Given the description of an element on the screen output the (x, y) to click on. 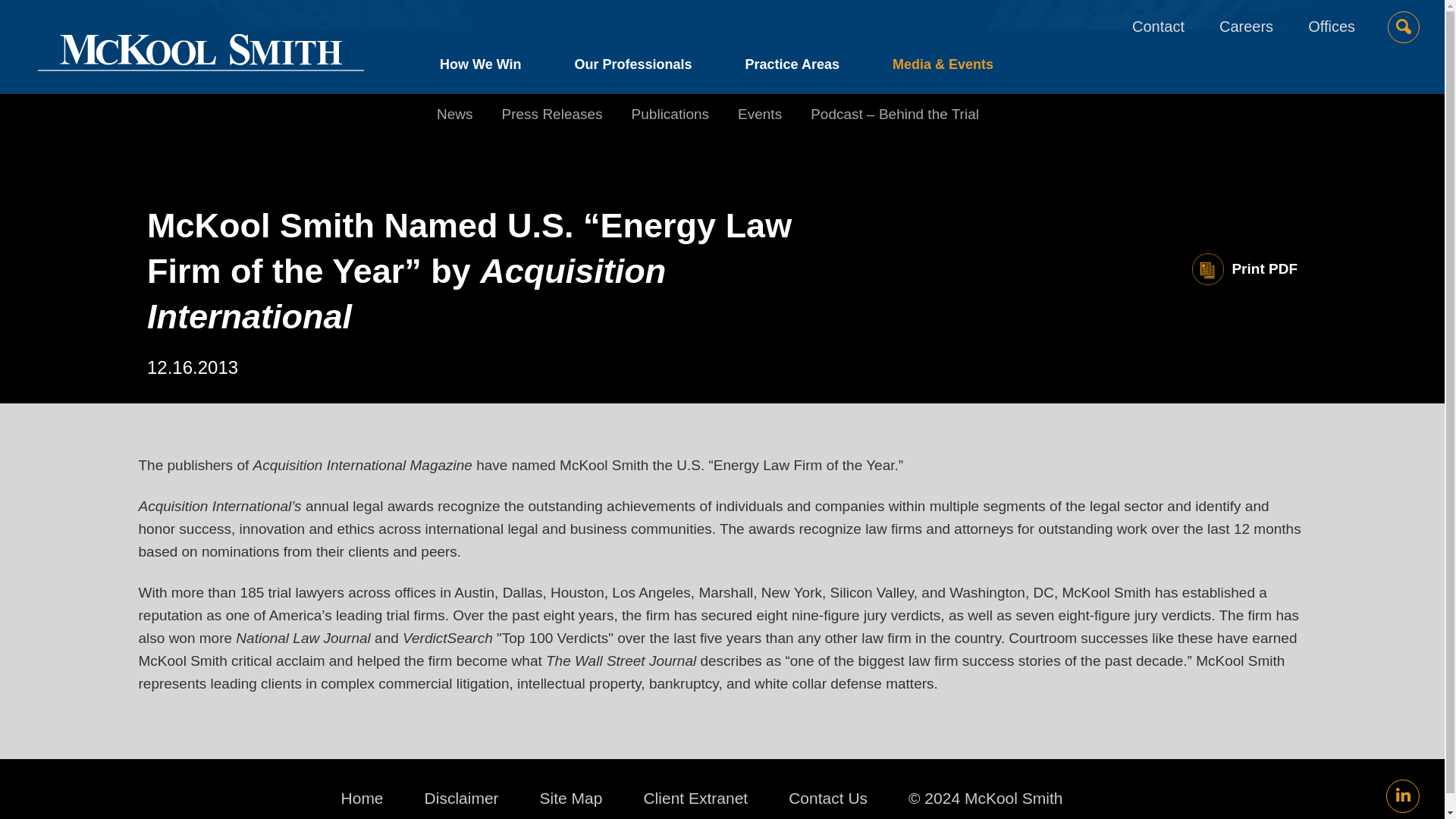
Main Menu (674, 19)
Practice Areas (792, 68)
Main Content (667, 19)
How We Win (493, 68)
Our Professionals (632, 68)
Menu (674, 19)
